Given the description of an element on the screen output the (x, y) to click on. 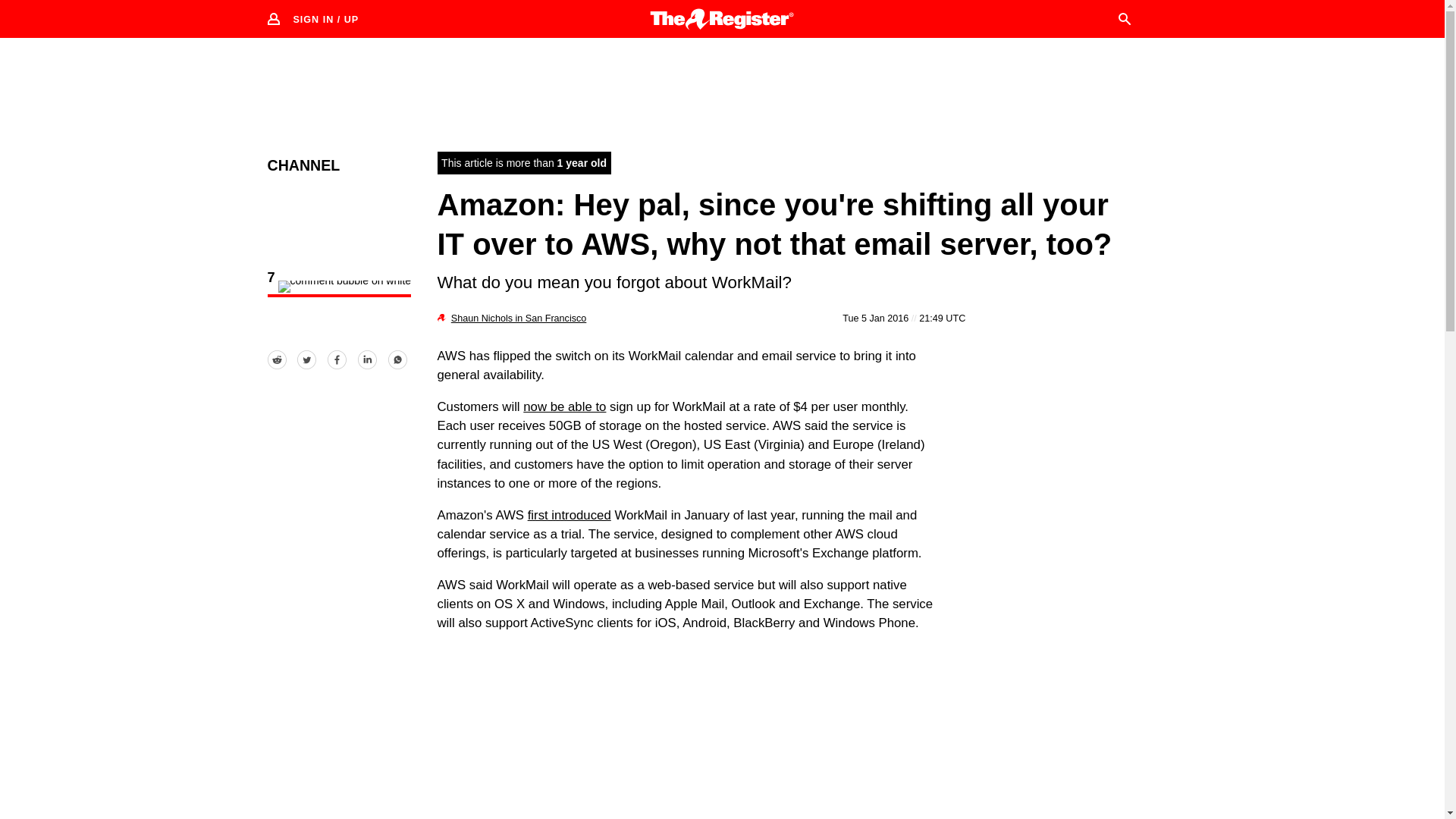
View comments on this article (338, 287)
Read more by this author (518, 318)
